Given the description of an element on the screen output the (x, y) to click on. 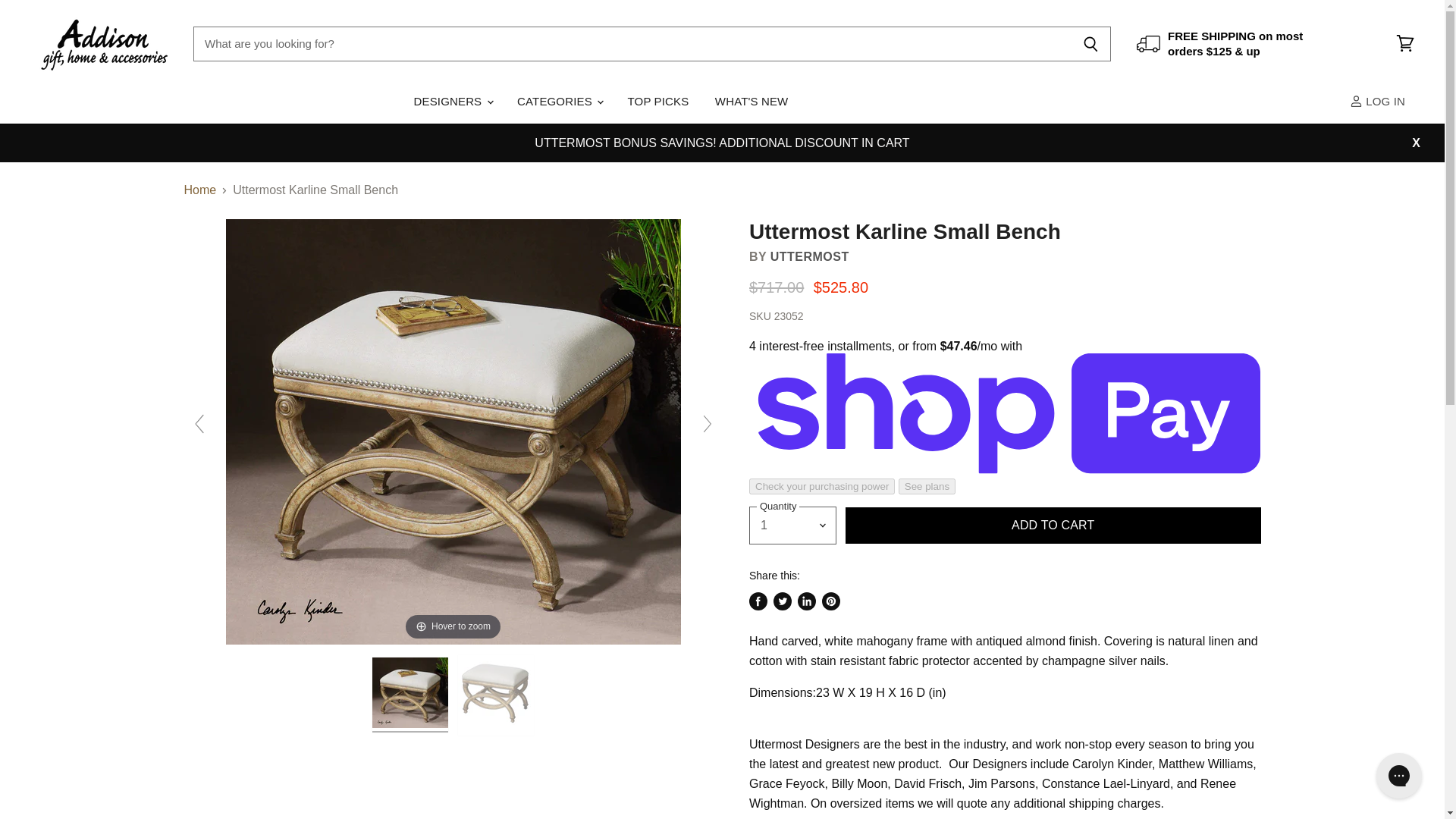
Gorgias live chat messenger (1398, 775)
Uttermost (809, 256)
ACCOUNT ICON (1355, 101)
Uttermost Furniture Uttermost Karline Small Bench (496, 695)
Uttermost Furniture Uttermost Karline Small Bench (410, 694)
Delivery icon (1148, 43)
